Given the description of an element on the screen output the (x, y) to click on. 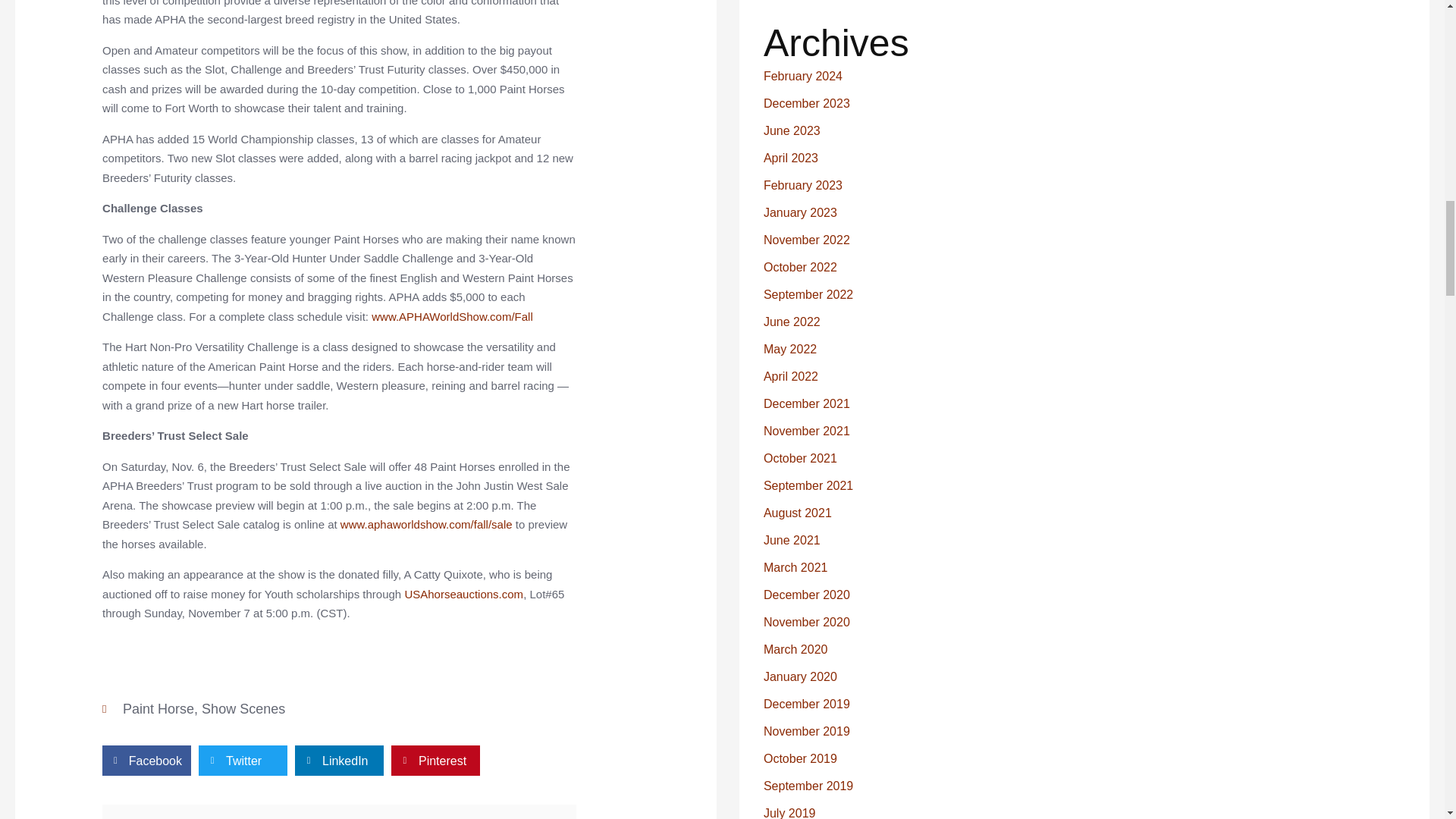
Show Scenes (243, 708)
Paint Horse (157, 708)
USAhorseauctions.com (463, 594)
